Given the description of an element on the screen output the (x, y) to click on. 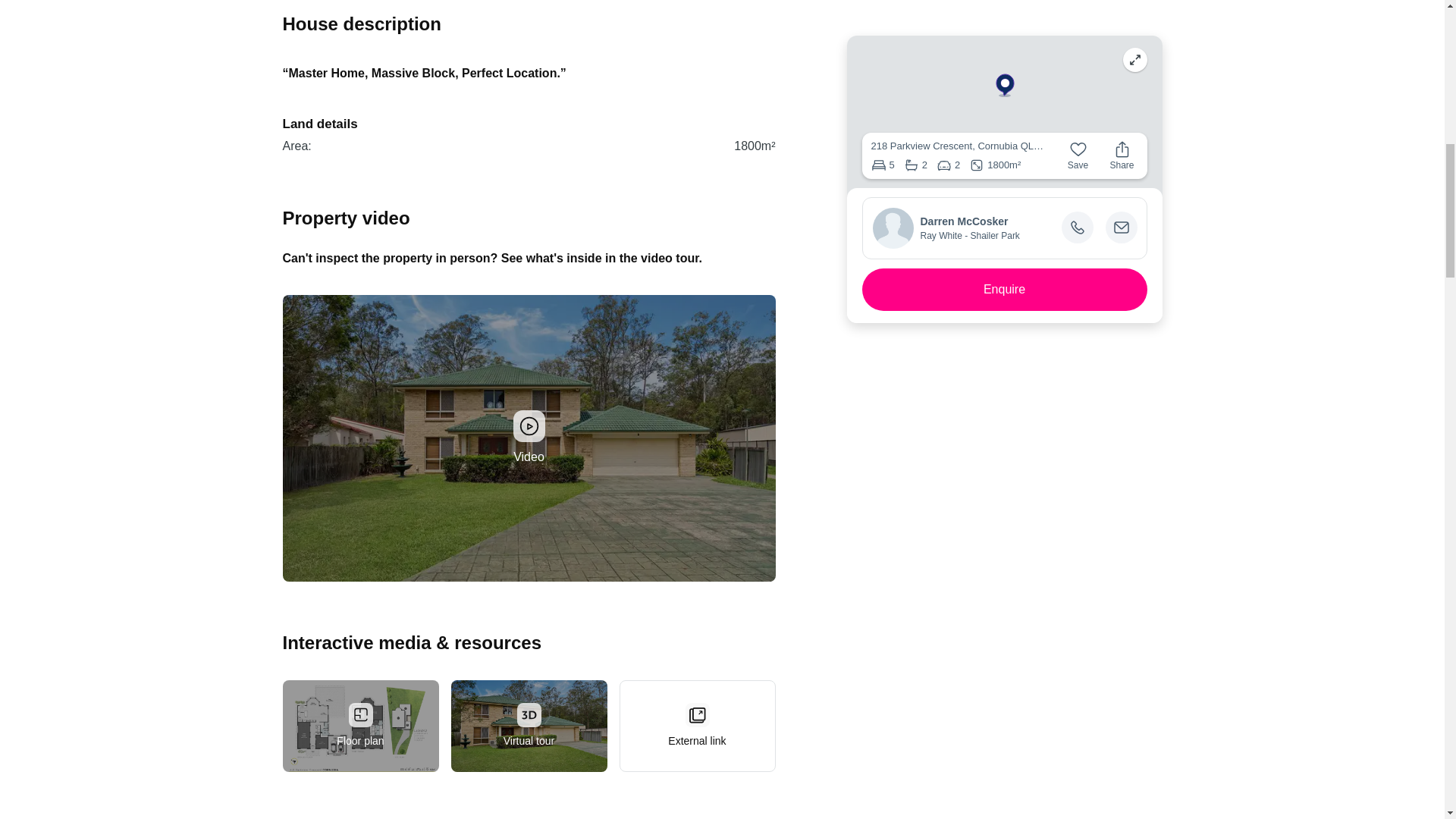
Floor plan (360, 725)
Virtual tour (528, 725)
External link (696, 725)
